Given the description of an element on the screen output the (x, y) to click on. 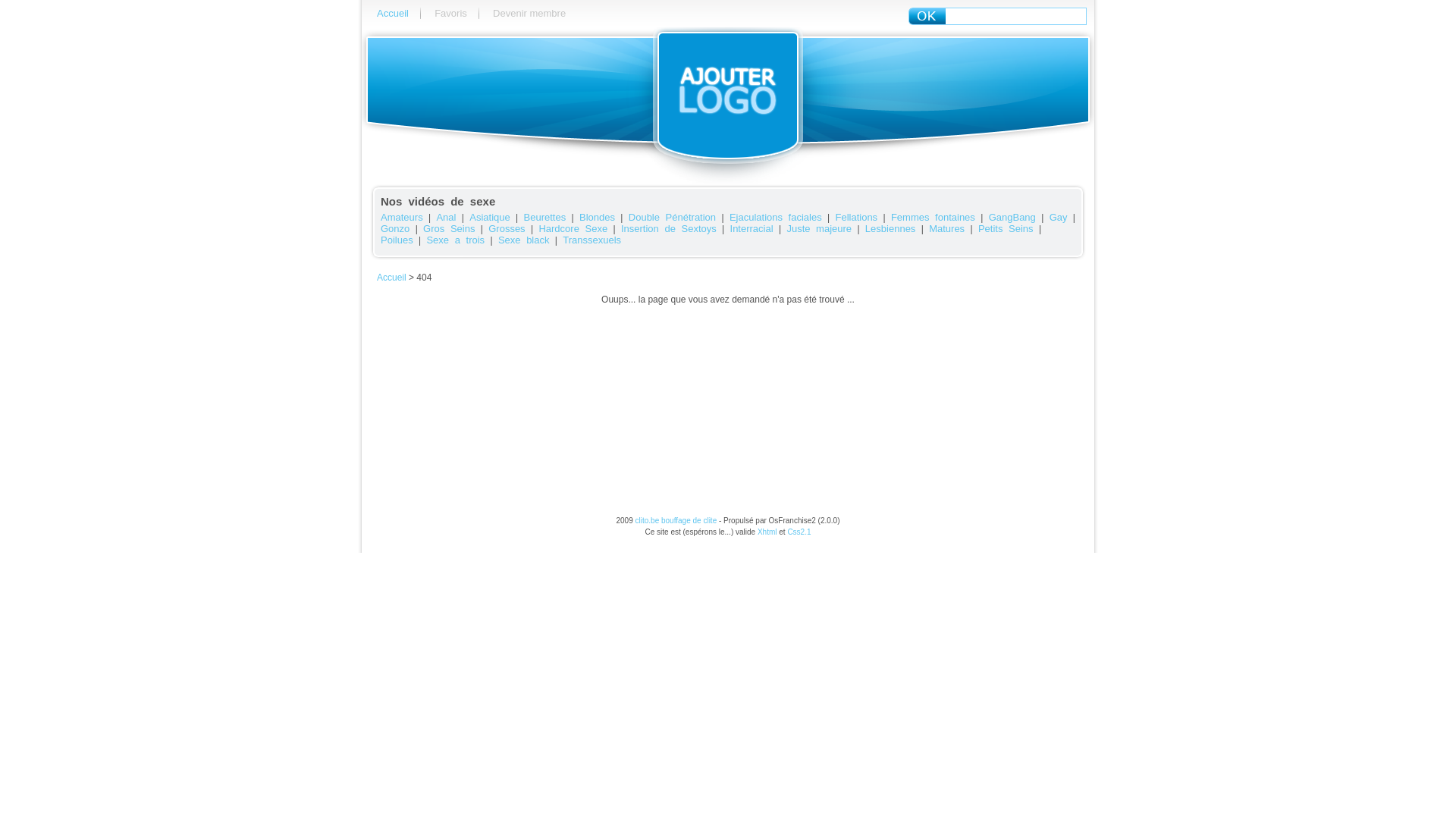
Accueil Element type: text (391, 277)
Grosses Element type: text (506, 228)
Beurettes Element type: text (545, 216)
Amateurs Element type: text (401, 216)
Sexe a trois Element type: text (455, 239)
Ejaculations faciales Element type: text (775, 216)
Anal Element type: text (445, 216)
Css2.1 Element type: text (798, 531)
Devenir membre Element type: text (528, 12)
Interracial Element type: text (751, 228)
Femmes fontaines Element type: text (933, 216)
clito.be bouffage de clite Element type: text (676, 520)
Gros Seins Element type: text (448, 228)
Gonzo Element type: text (394, 228)
Sexe black Element type: text (523, 239)
Blondes Element type: text (597, 216)
Asiatique Element type: text (489, 216)
Insertion de Sextoys Element type: text (668, 228)
Transsexuels Element type: text (591, 239)
Juste majeure Element type: text (818, 228)
Fellations Element type: text (855, 216)
GangBang Element type: text (1011, 216)
Petits Seins Element type: text (1005, 228)
Accueil Element type: text (392, 12)
Favoris Element type: text (450, 12)
Lesbiennes Element type: text (890, 228)
Hardcore Sexe Element type: text (572, 228)
Matures Element type: text (946, 228)
Poilues Element type: text (396, 239)
Gay Element type: text (1058, 216)
Xhtml Element type: text (767, 531)
  Element type: text (926, 16)
